Given the description of an element on the screen output the (x, y) to click on. 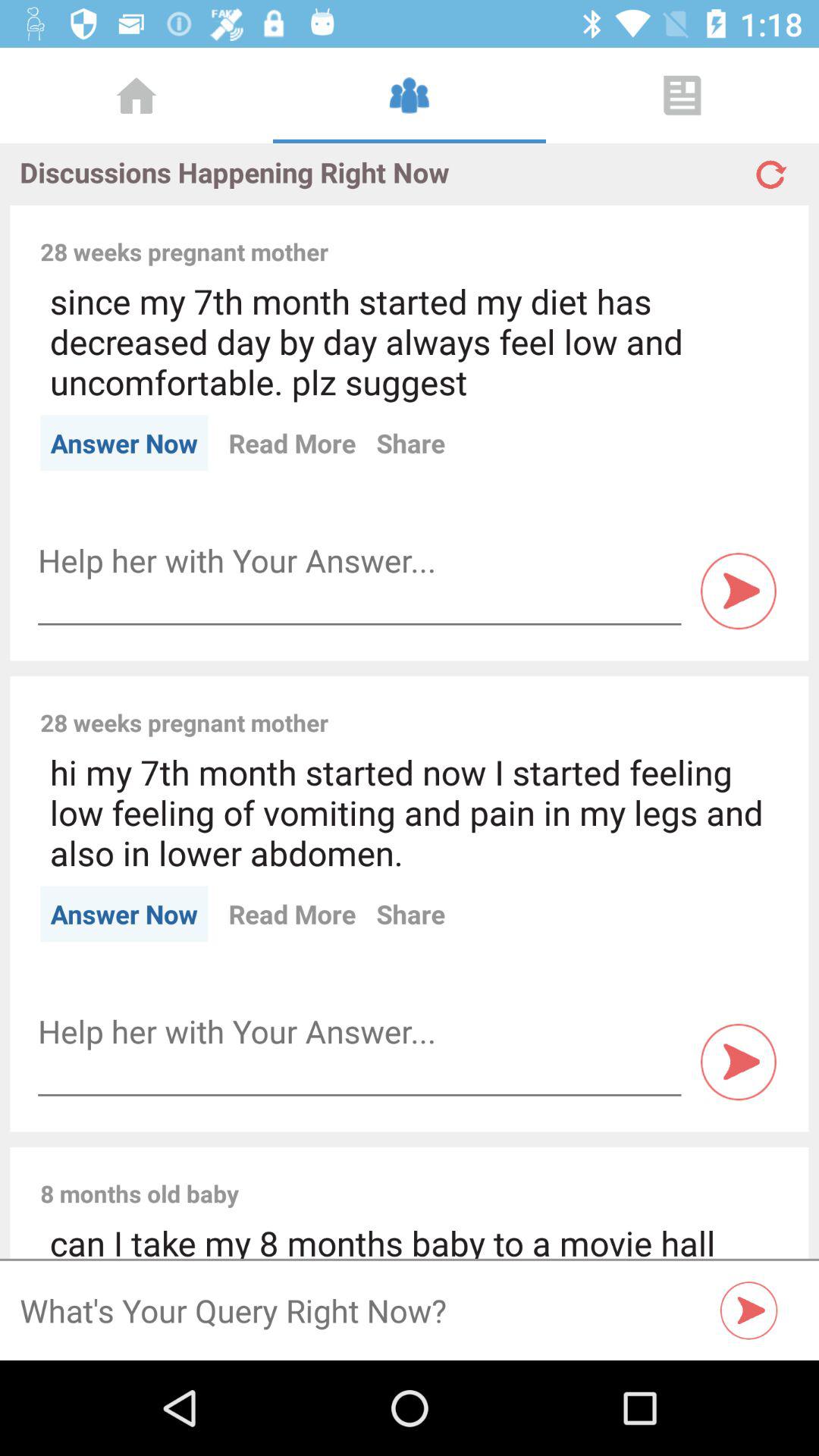
launch item next to the 28 weeks pregnant item (563, 235)
